Given the description of an element on the screen output the (x, y) to click on. 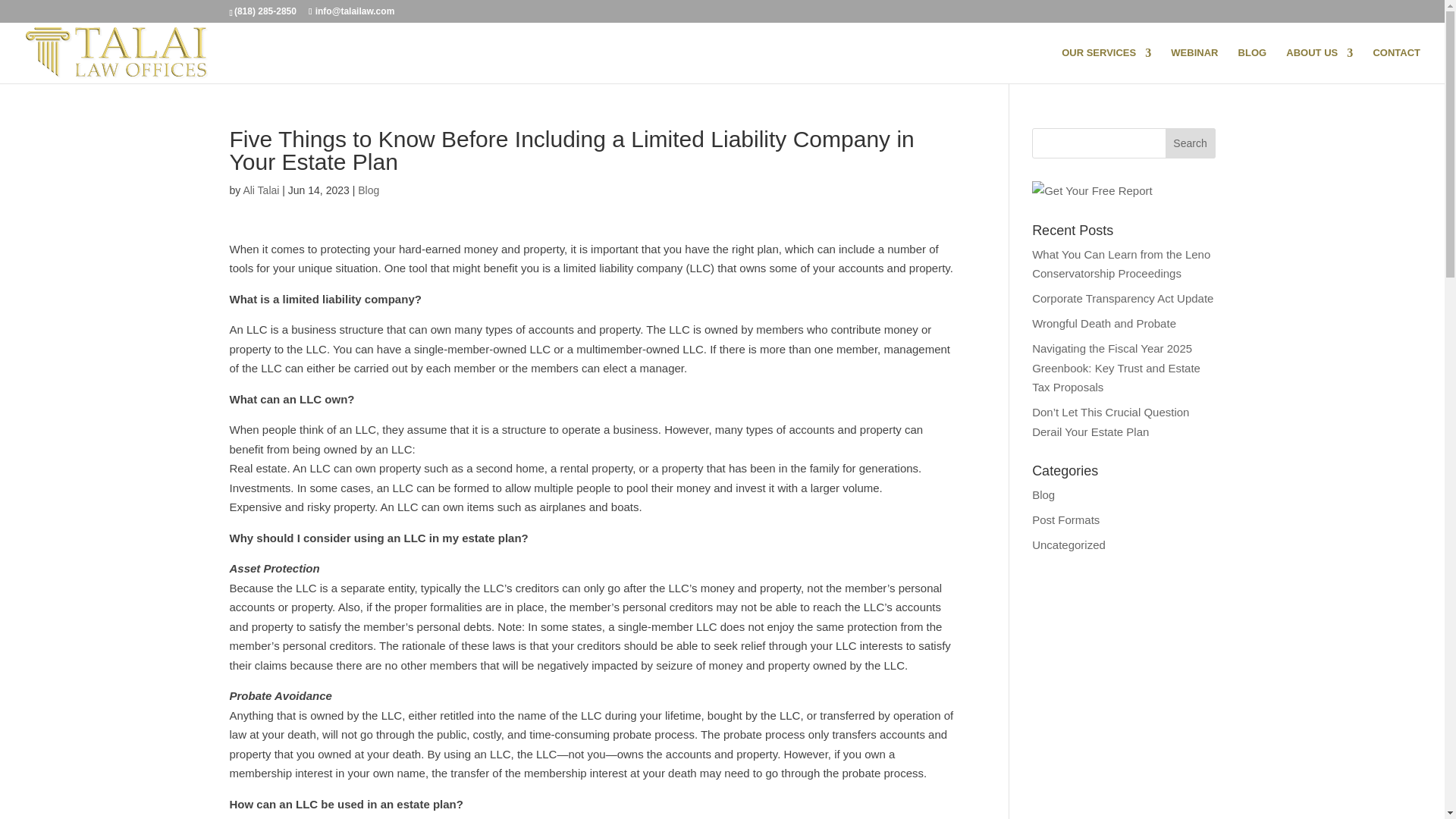
Ali Talai (261, 190)
Blog (368, 190)
What You Can Learn from the Leno Conservatorship Proceedings (1120, 263)
Post Formats (1065, 519)
Uncategorized (1068, 544)
Blog (1043, 494)
ABOUT US (1318, 65)
OUR SERVICES (1106, 65)
WEBINAR (1193, 65)
Wrongful Death and Probate (1104, 323)
Corporate Transparency Act Update (1122, 297)
Posts by Ali Talai (261, 190)
Search (1190, 142)
Search (1190, 142)
